Given the description of an element on the screen output the (x, y) to click on. 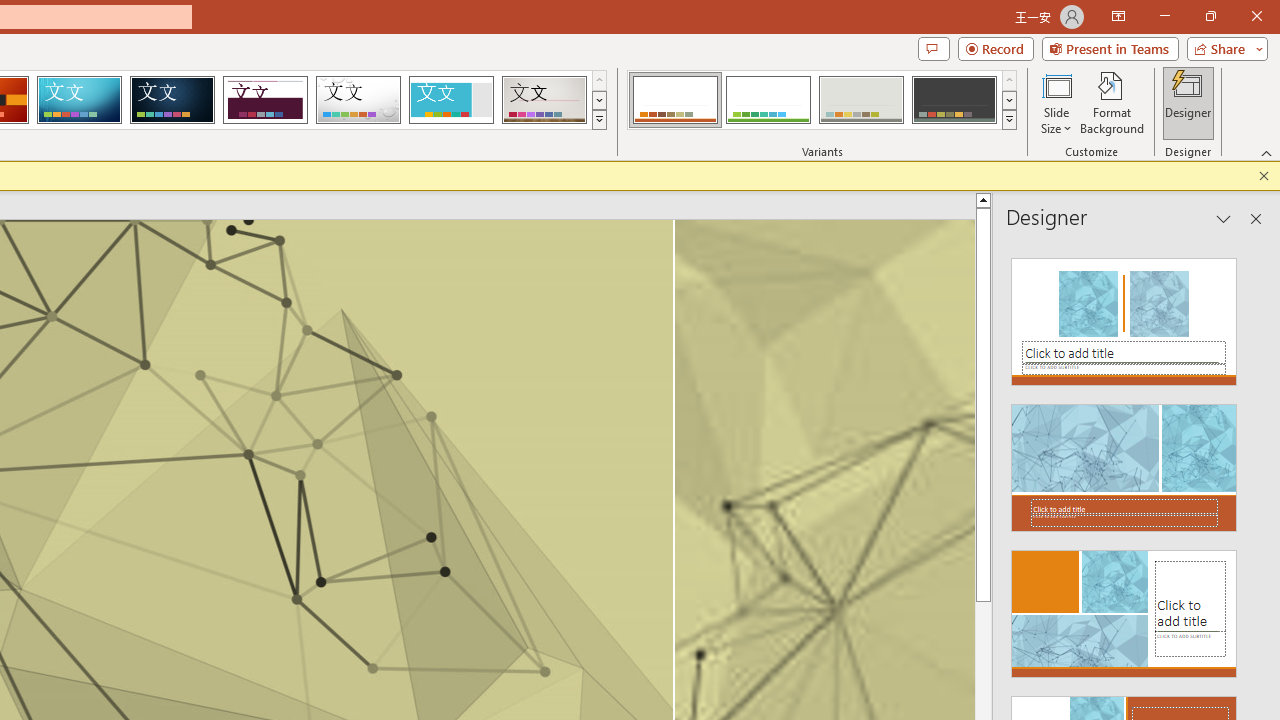
Retrospect Variant 3 (861, 100)
Recommended Design: Design Idea (1124, 315)
Themes (598, 120)
Format Background (1111, 102)
Damask (171, 100)
Dividend (265, 100)
Design Idea (1124, 607)
Retrospect Variant 1 (674, 100)
Slide Size (1056, 102)
